Given the description of an element on the screen output the (x, y) to click on. 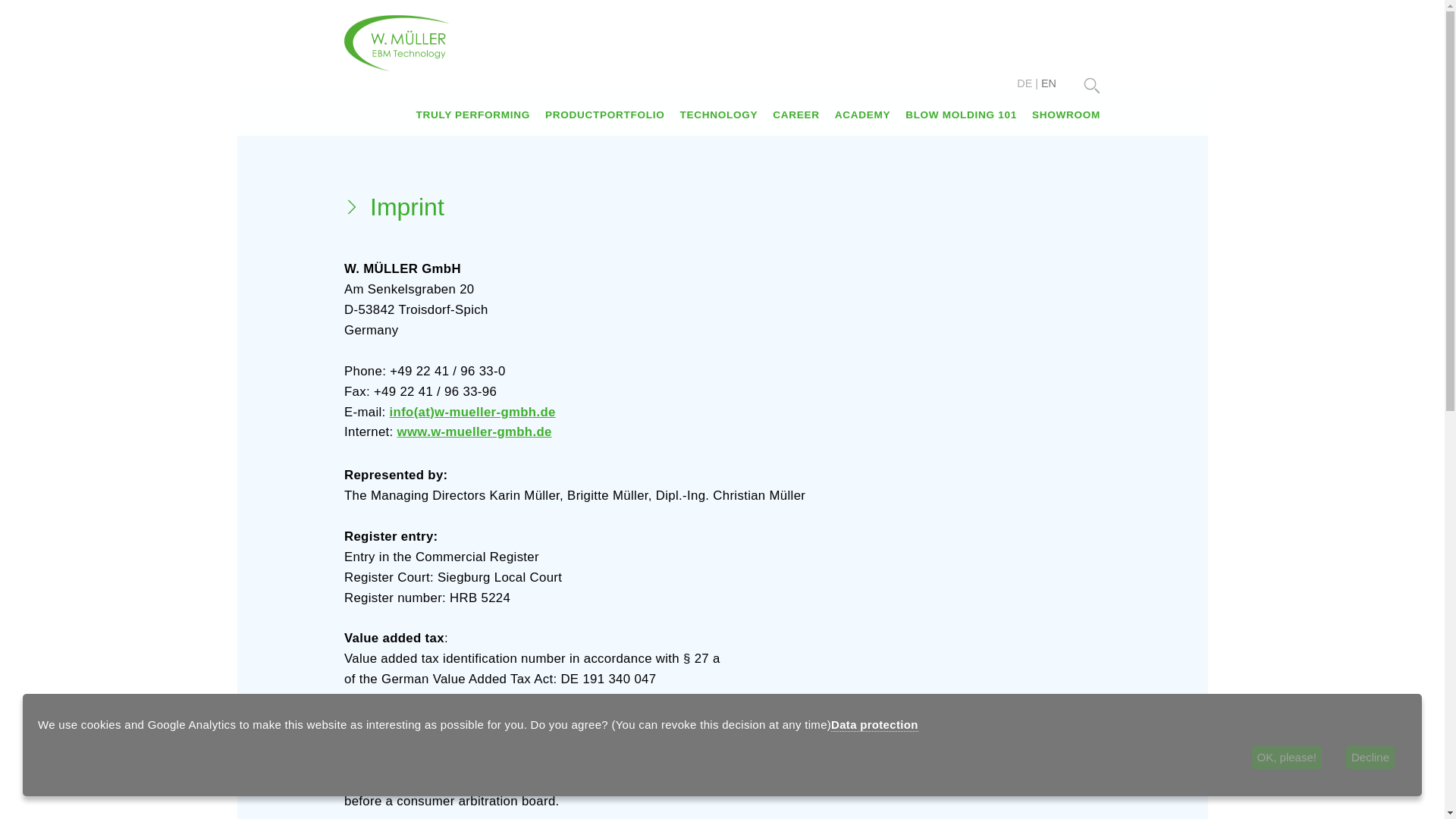
TRULY PERFORMING (471, 114)
Suche (1091, 85)
Home (397, 43)
DE (1024, 82)
CAREER (795, 114)
EN (1049, 82)
PRODUCTPORTFOLIO (603, 114)
German (1024, 82)
TECHNOLOGY (718, 114)
English (1049, 82)
